Given the description of an element on the screen output the (x, y) to click on. 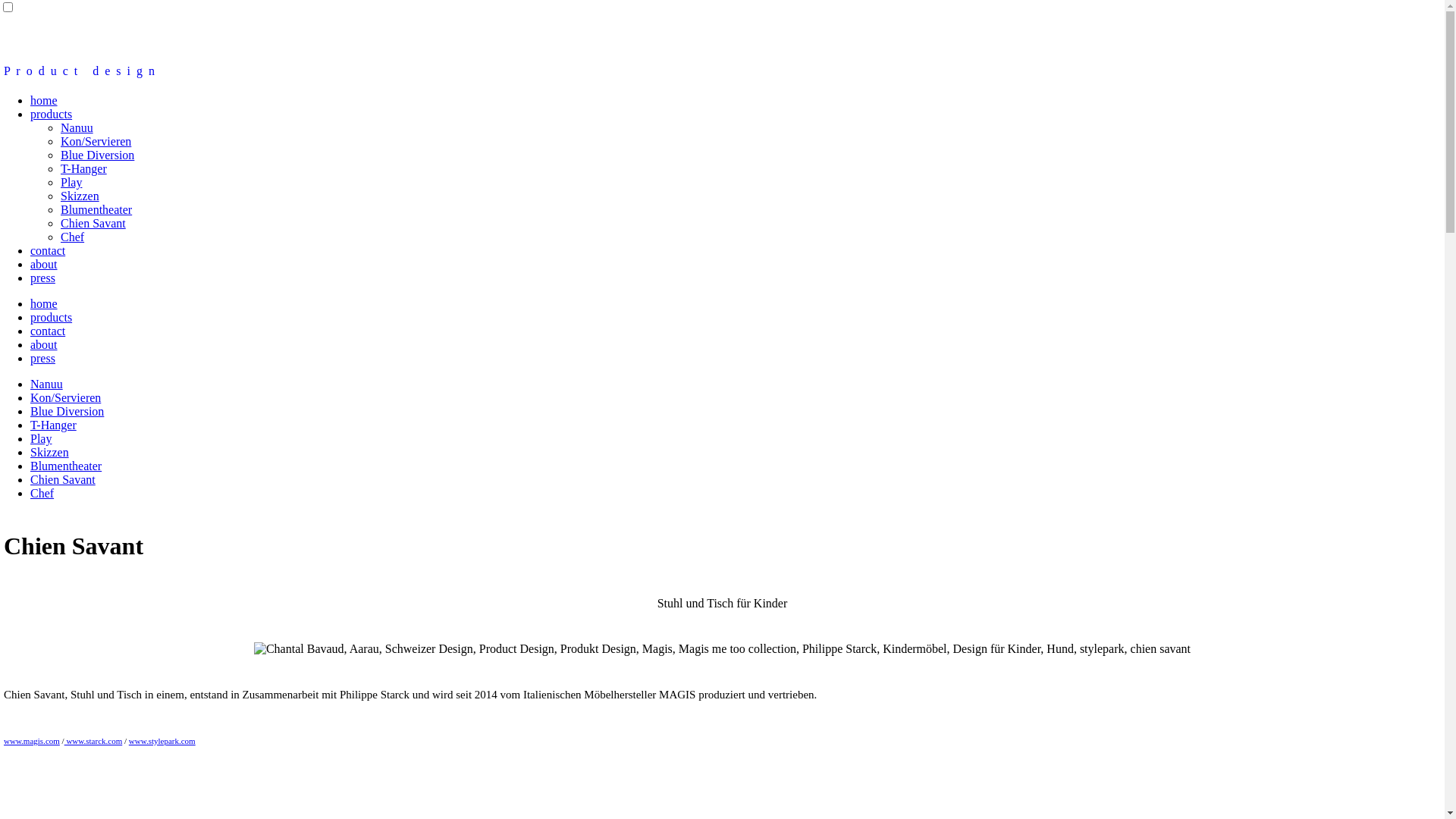
T-Hanger Element type: text (83, 168)
Blumentheater Element type: text (95, 209)
Play Element type: text (70, 181)
Blue Diversion Element type: text (66, 410)
Chien Savant Element type: text (62, 479)
Blumentheater Element type: text (65, 465)
about Element type: text (43, 344)
home Element type: text (43, 303)
Chef Element type: text (41, 492)
press Element type: text (42, 357)
Nanuu Element type: text (76, 127)
www.stylepark.com Element type: text (161, 740)
home Element type: text (43, 100)
Kon/Servieren Element type: text (65, 397)
Nanuu Element type: text (46, 383)
about Element type: text (43, 263)
Skizzen Element type: text (79, 195)
Chef Element type: text (72, 236)
Kon/Servieren Element type: text (95, 140)
 www.starck.com Element type: text (93, 740)
Skizzen Element type: text (49, 451)
press Element type: text (42, 277)
products Element type: text (51, 113)
Blue Diversion Element type: text (97, 154)
contact Element type: text (47, 250)
T-Hanger Element type: text (53, 424)
contact Element type: text (47, 330)
P  r  o  d  u  c  t     d  e  s  i  g  n Element type: text (78, 70)
Play Element type: text (40, 438)
products Element type: text (51, 316)
Chien Savant Element type: text (92, 222)
www.magis.com Element type: text (31, 740)
